Given the description of an element on the screen output the (x, y) to click on. 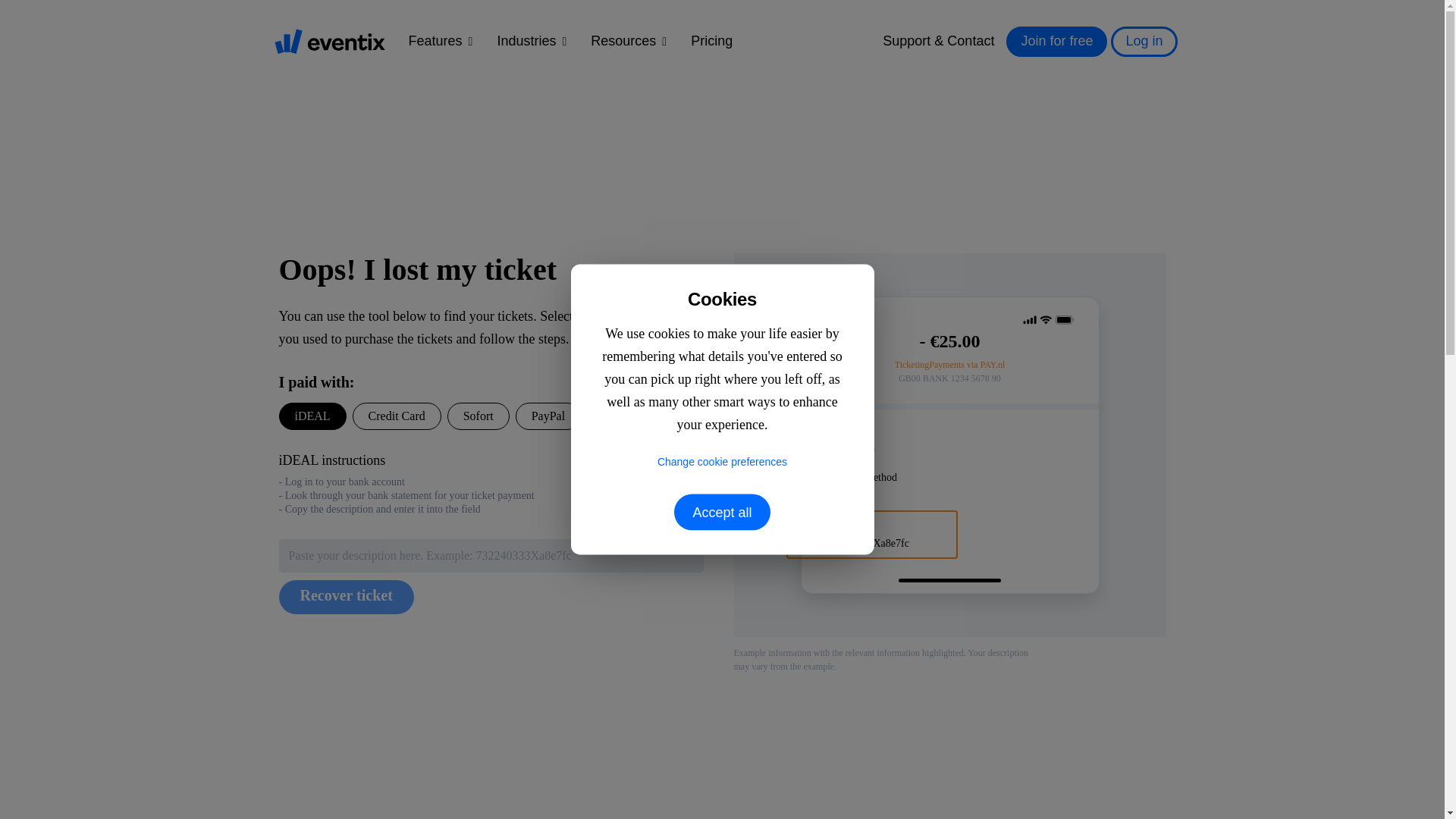
Log in (1143, 41)
Accept all (722, 512)
Pricing (711, 41)
Join for free (1056, 41)
Click to see and change your cookie preferences (721, 461)
Click to accept all cookies (722, 512)
